Given the description of an element on the screen output the (x, y) to click on. 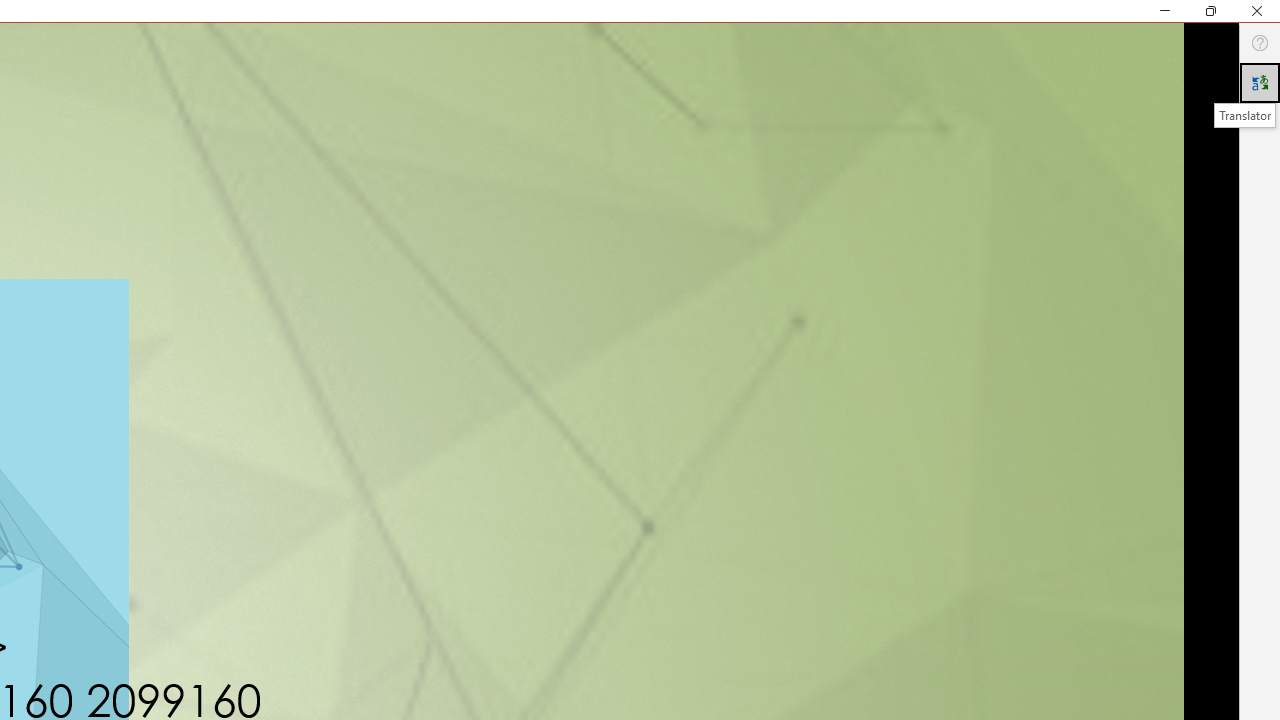
Translator (1244, 115)
Translator (1260, 82)
